Given the description of an element on the screen output the (x, y) to click on. 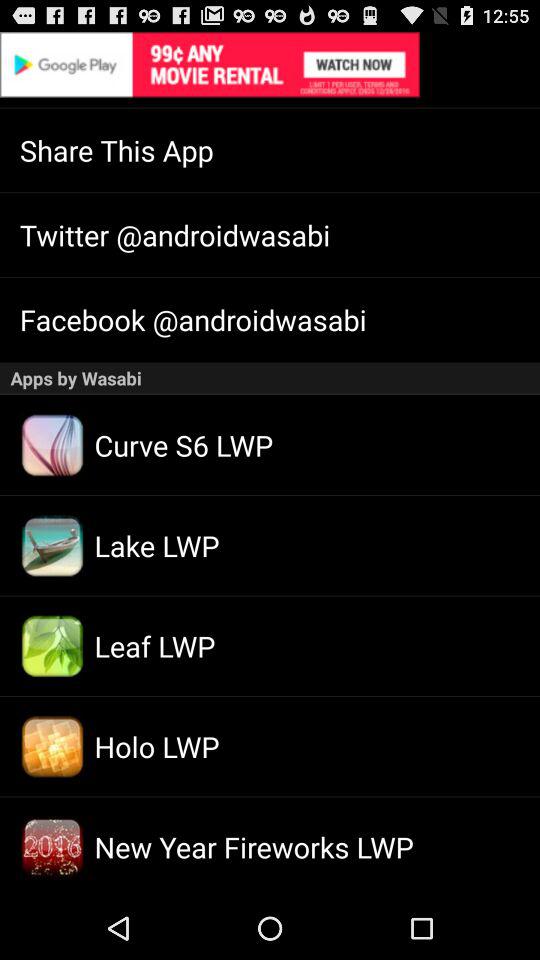
go to advertisement (270, 64)
